Given the description of an element on the screen output the (x, y) to click on. 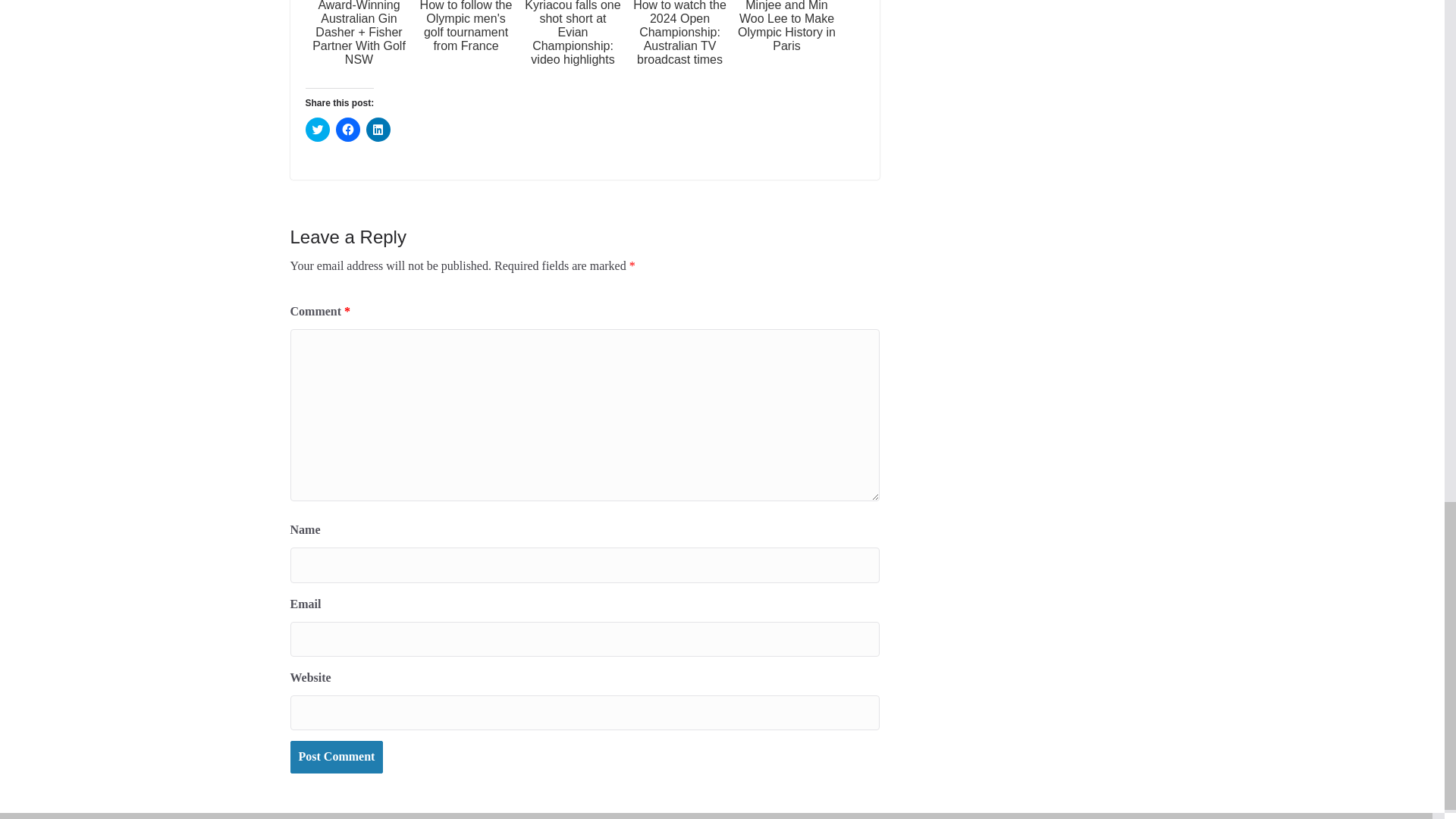
Click to share on Twitter (316, 129)
Post Comment (335, 757)
Post Comment (335, 757)
Click to share on Facebook (346, 129)
How to follow the Olympic men's golf tournament from France (465, 42)
Minjee and Min Woo Lee to Make Olympic History in Paris (786, 42)
Click to share on LinkedIn (377, 129)
